Given the description of an element on the screen output the (x, y) to click on. 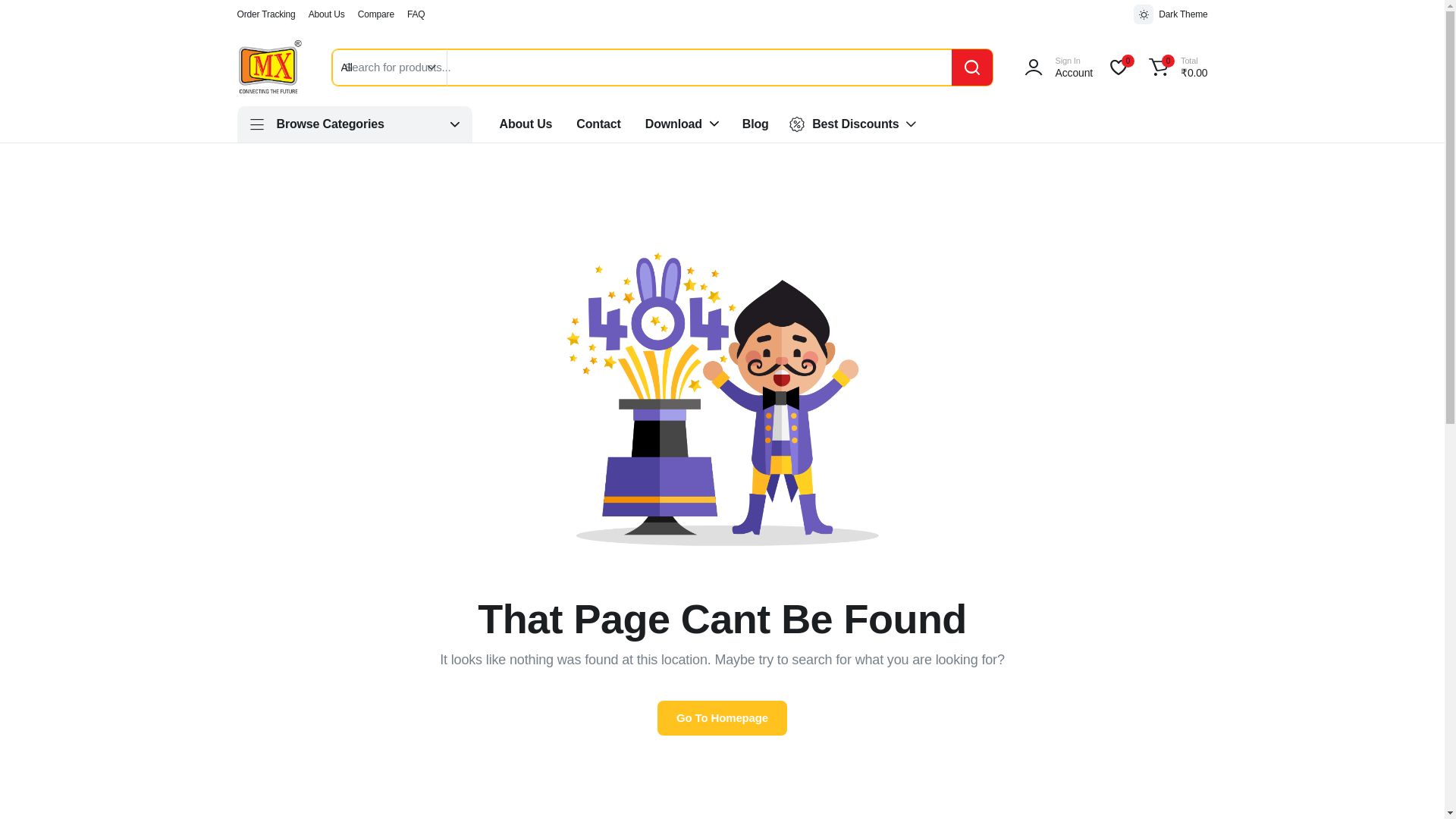
MX MDR Electronics (268, 67)
